Given the description of an element on the screen output the (x, y) to click on. 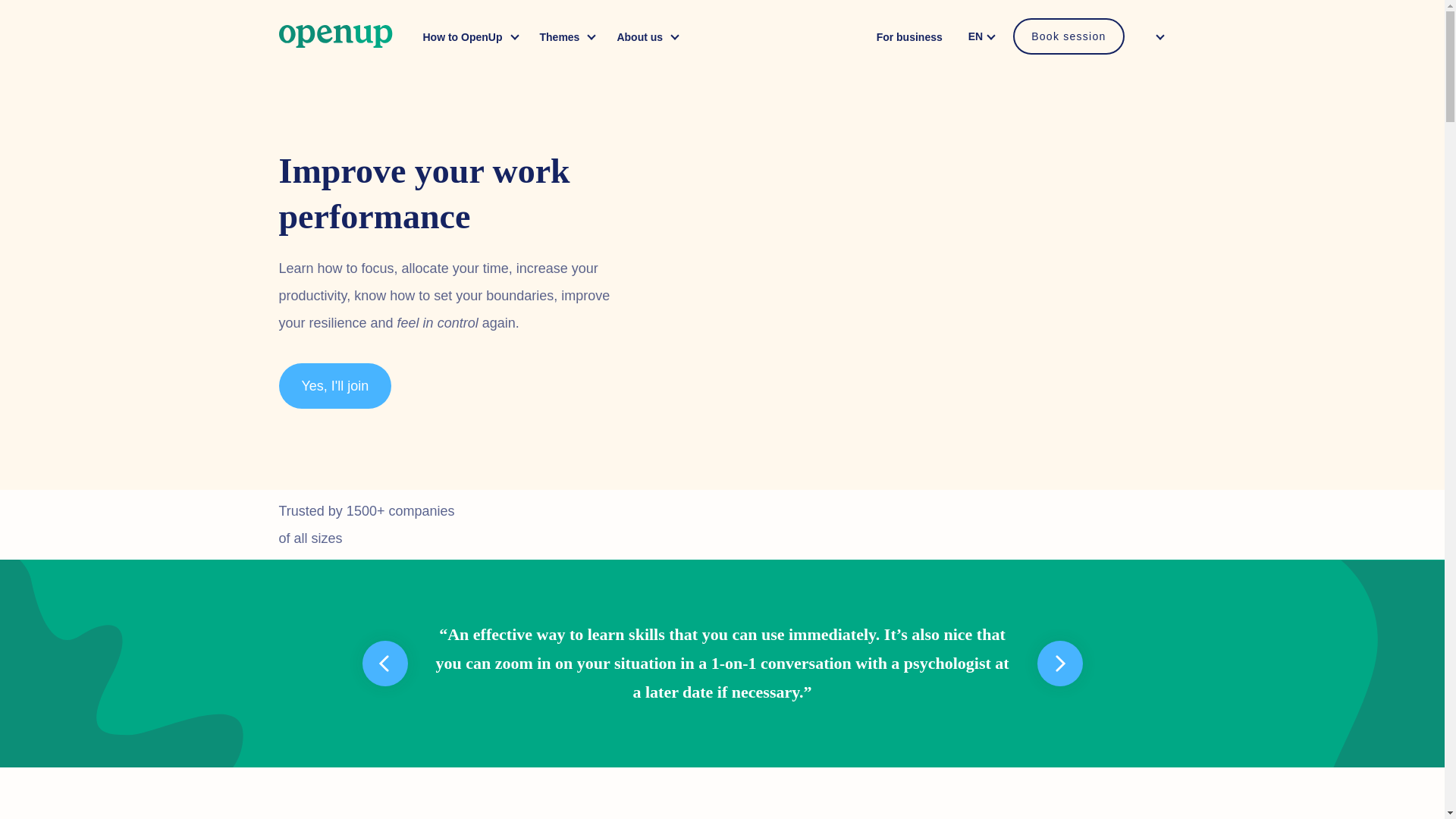
How to OpenUp (467, 35)
For business (909, 35)
Book session (1068, 36)
EN (984, 35)
About us (645, 35)
Themes (564, 35)
